Given the description of an element on the screen output the (x, y) to click on. 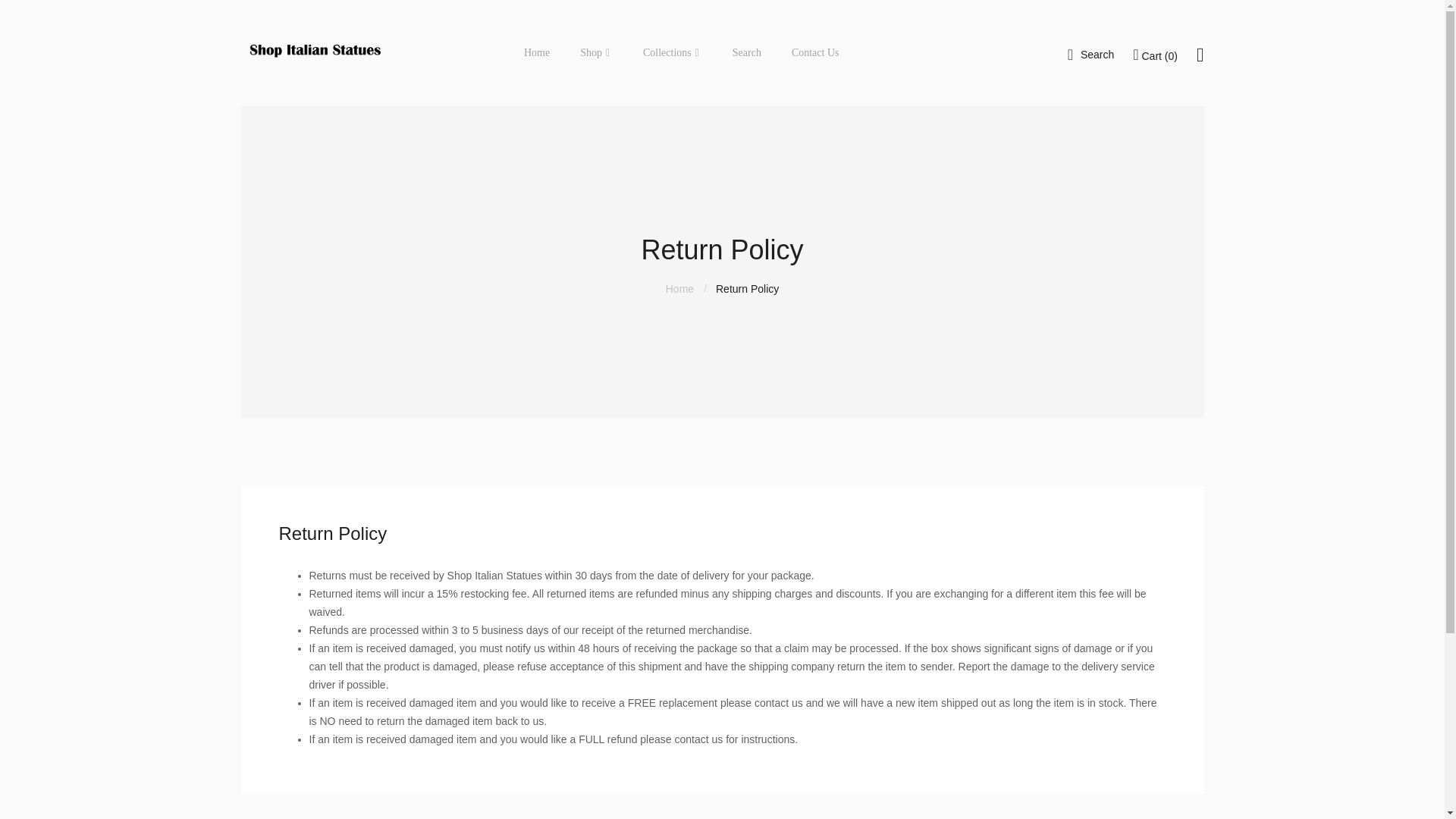
Collections (670, 53)
